Given the description of an element on the screen output the (x, y) to click on. 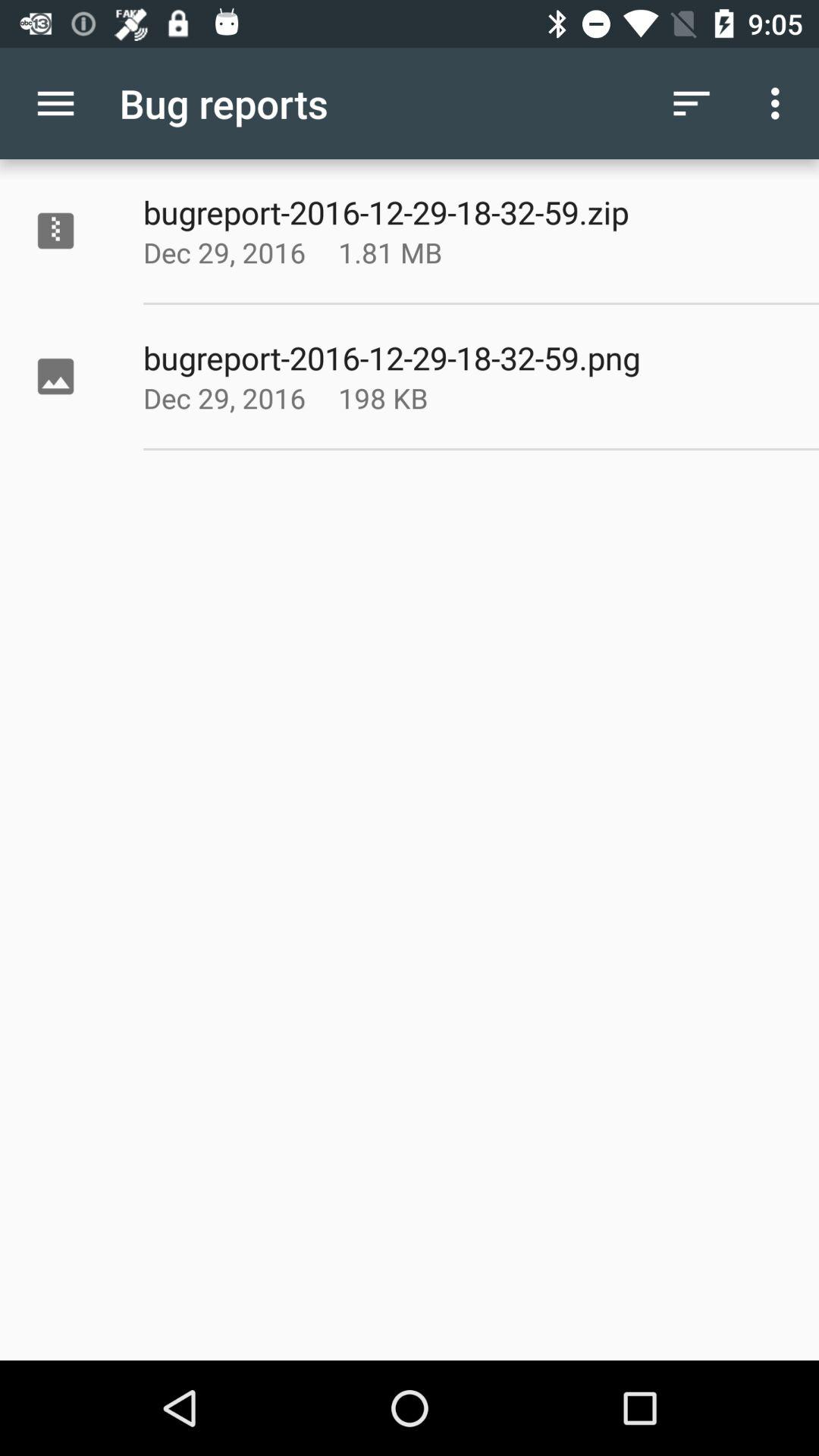
press icon above bugreport 2016 12 app (779, 103)
